Given the description of an element on the screen output the (x, y) to click on. 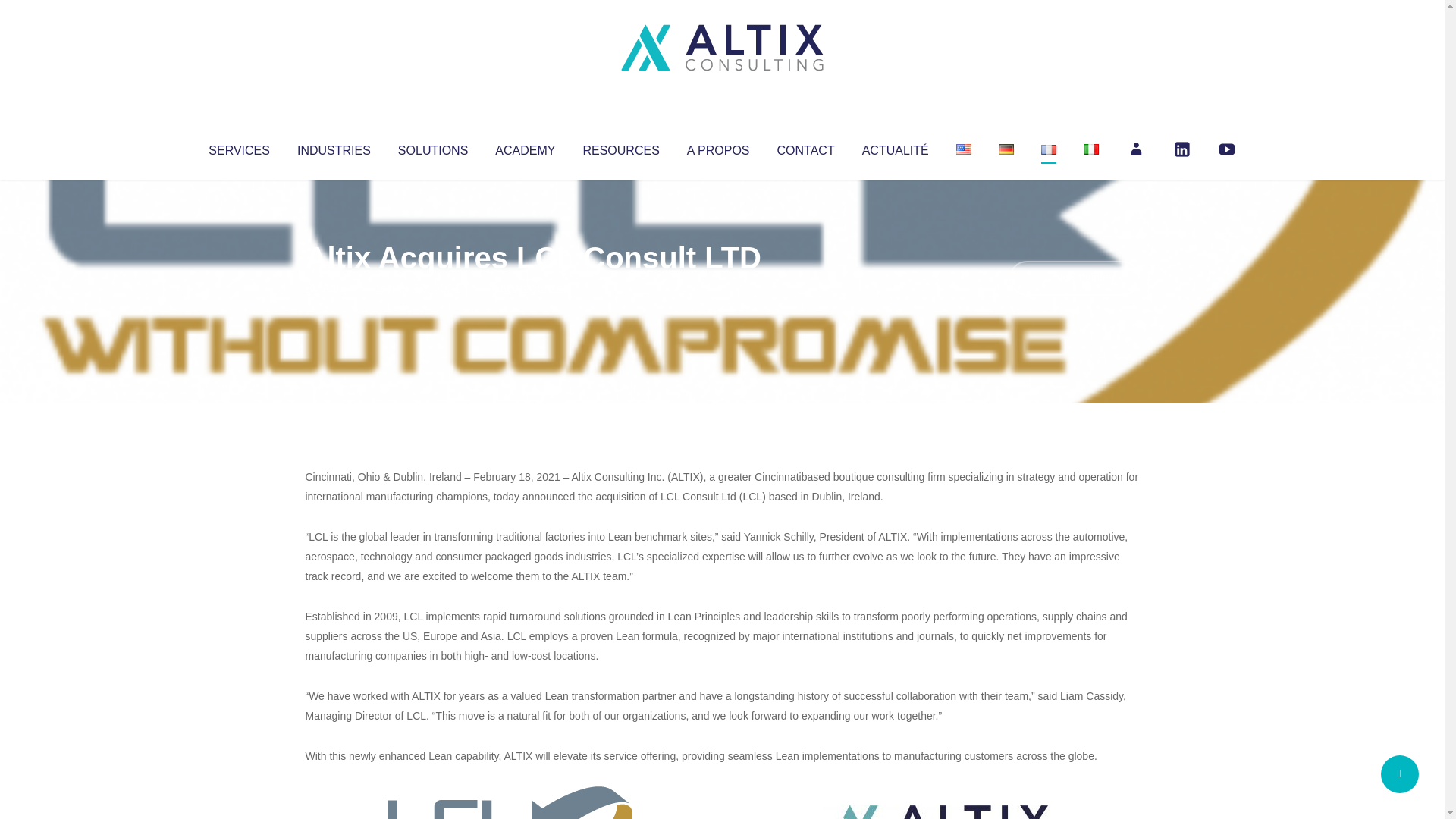
SOLUTIONS (432, 146)
SERVICES (238, 146)
Uncategorized (530, 287)
Altix (333, 287)
ACADEMY (524, 146)
Articles par Altix (333, 287)
INDUSTRIES (334, 146)
RESOURCES (620, 146)
A PROPOS (718, 146)
No Comments (1073, 278)
